Given the description of an element on the screen output the (x, y) to click on. 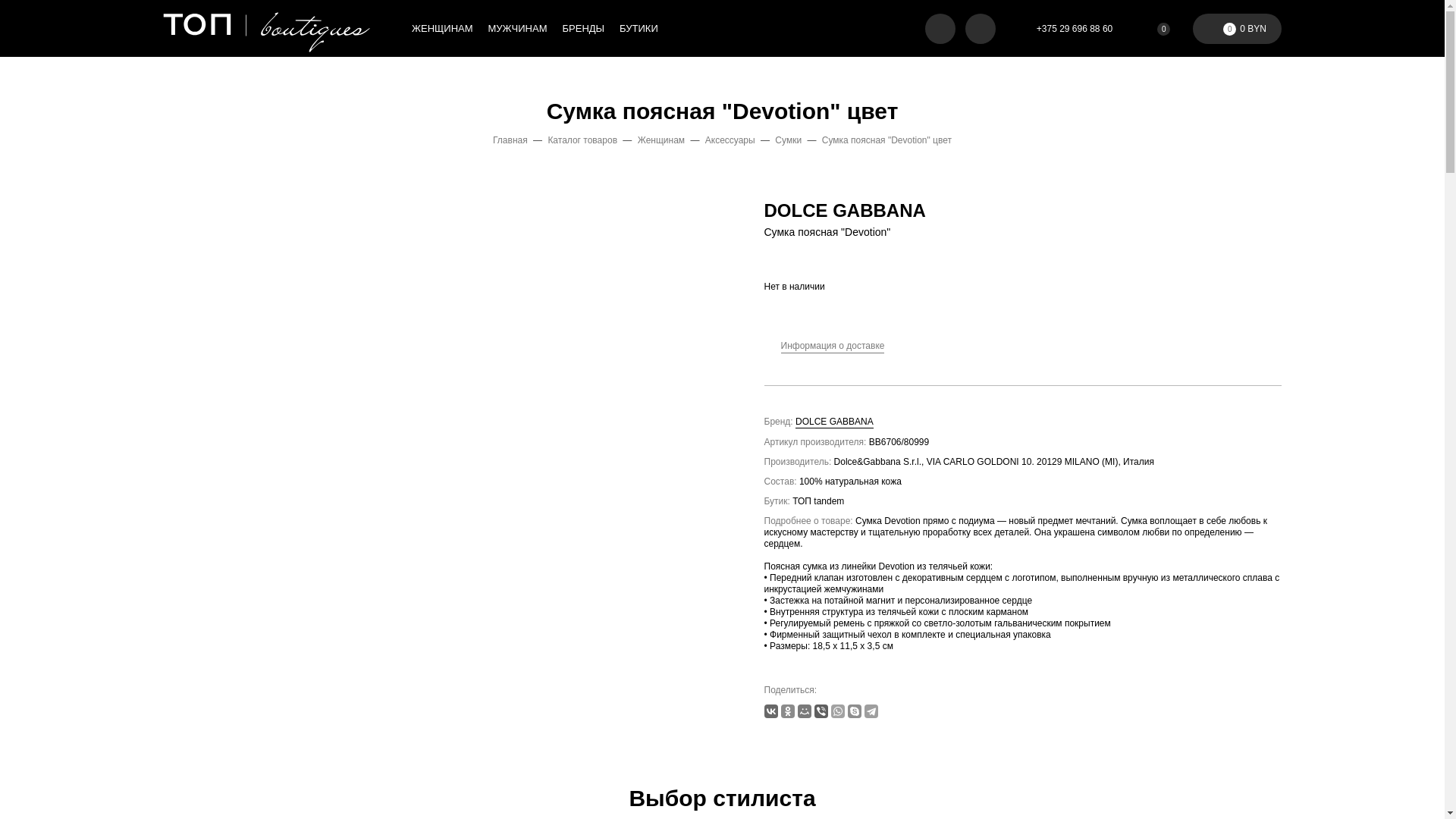
+375 29 696 88 60 Element type: text (1065, 28)
Skype Element type: hover (854, 711)
0 Element type: text (1154, 28)
Viber Element type: hover (821, 711)
00 BYN Element type: text (1236, 28)
WhatsApp Element type: hover (837, 711)
DOLCE GABBANA Element type: text (844, 210)
Telegram Element type: hover (871, 711)
DOLCE GABBANA Element type: text (834, 422)
